Given the description of an element on the screen output the (x, y) to click on. 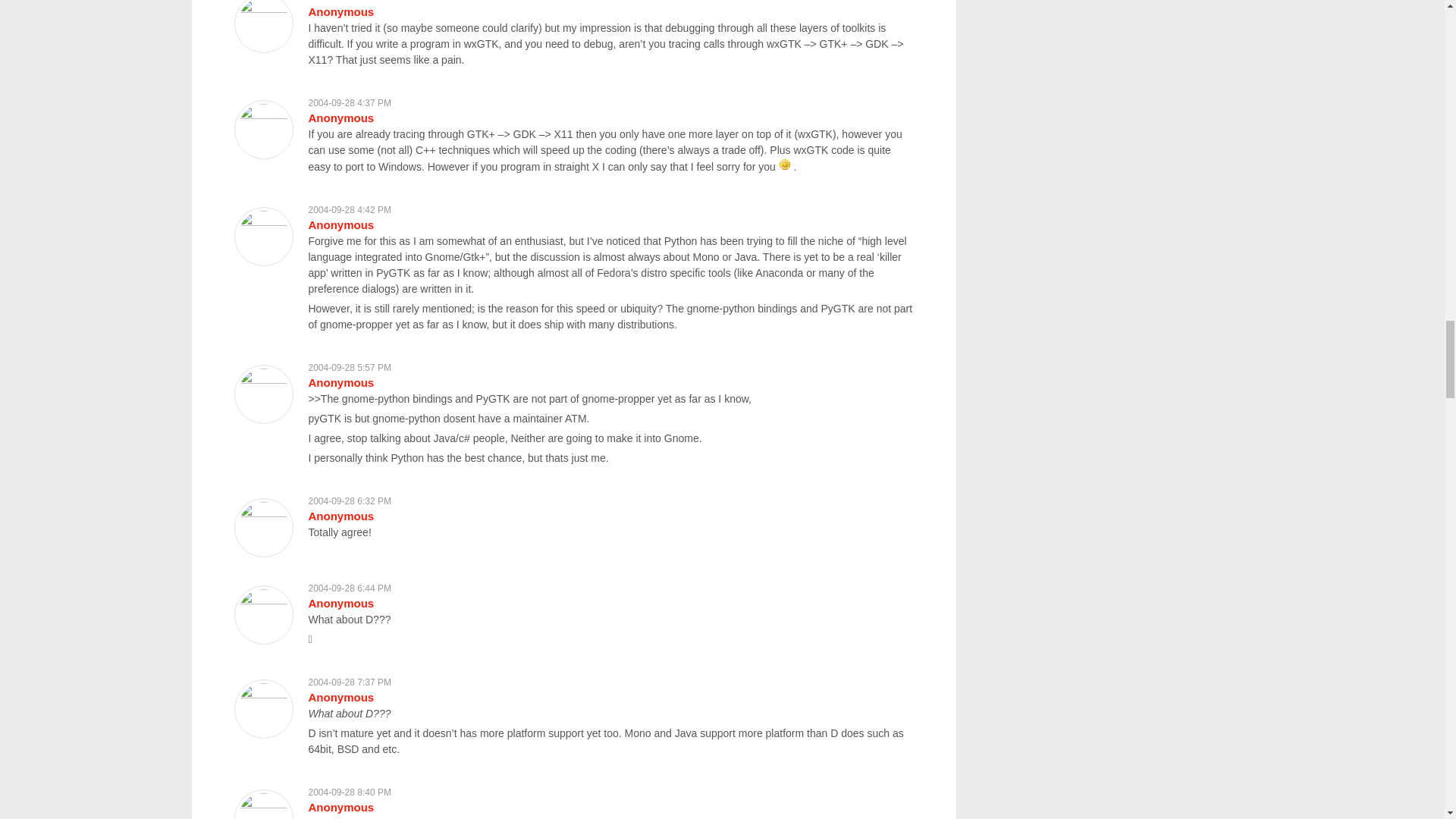
Anonymous (340, 515)
Anonymous (340, 11)
Anonymous (340, 603)
Anonymous (340, 382)
Anonymous (340, 117)
Anonymous (340, 224)
